Given the description of an element on the screen output the (x, y) to click on. 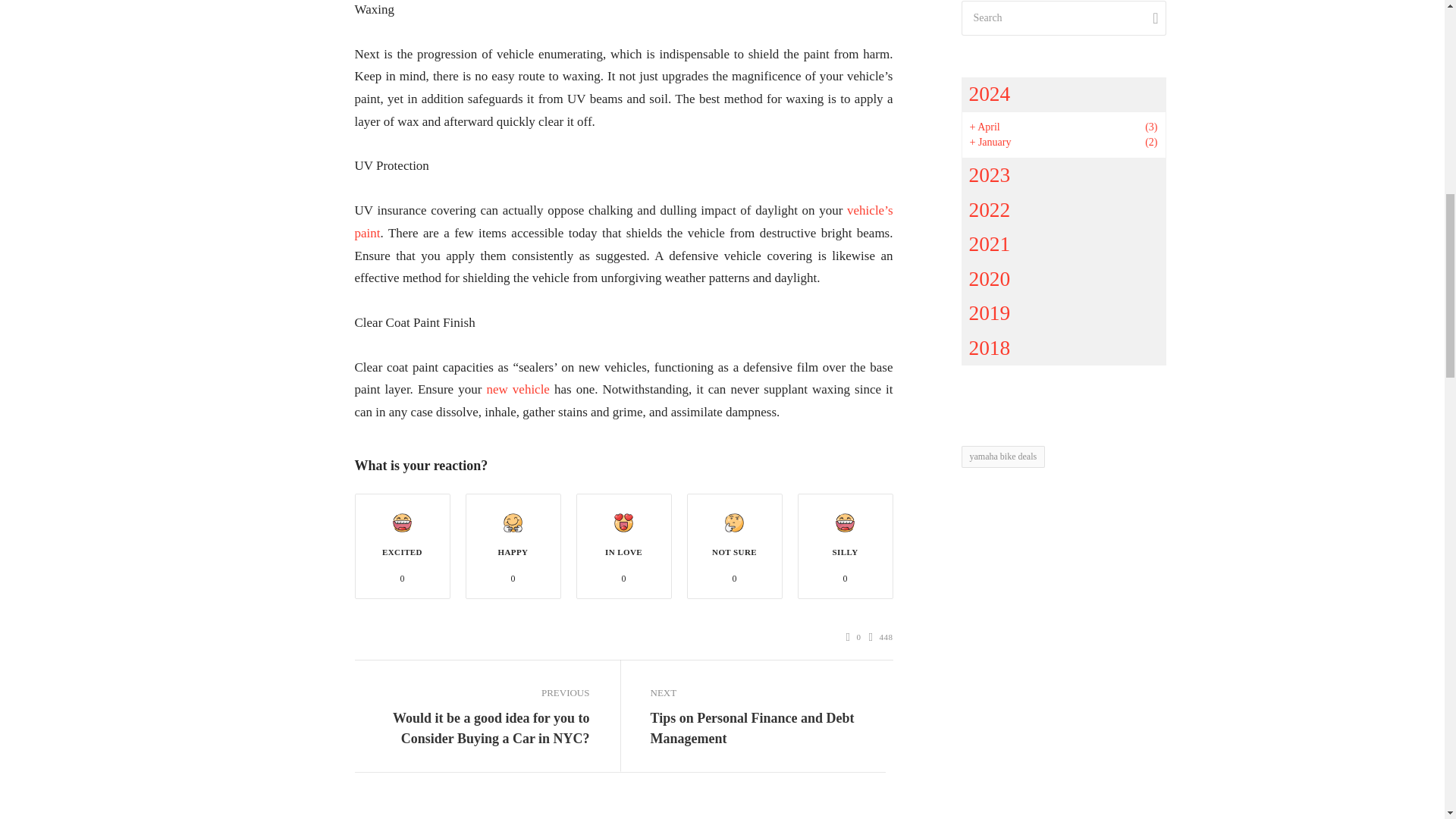
new vehicle (517, 389)
448 Views (881, 636)
0 Comments (853, 636)
0 (853, 636)
